Given the description of an element on the screen output the (x, y) to click on. 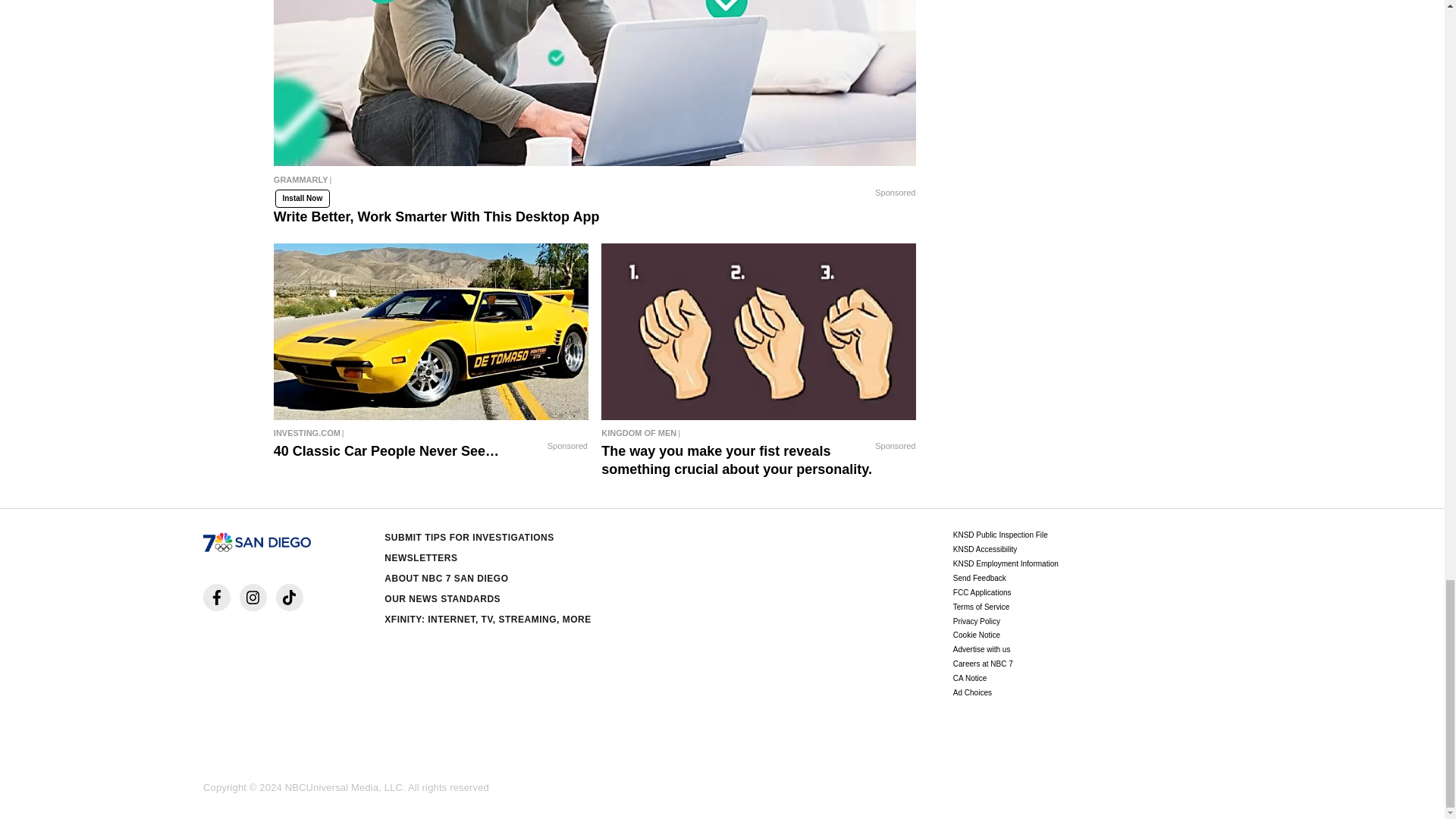
40 Classic Car People Never See Anymore (430, 433)
Write Better, Work Smarter With This Desktop App (595, 183)
Write Better, Work Smarter With This Desktop App (595, 83)
40 Classic Car People Never See Anymore (430, 331)
